Given the description of an element on the screen output the (x, y) to click on. 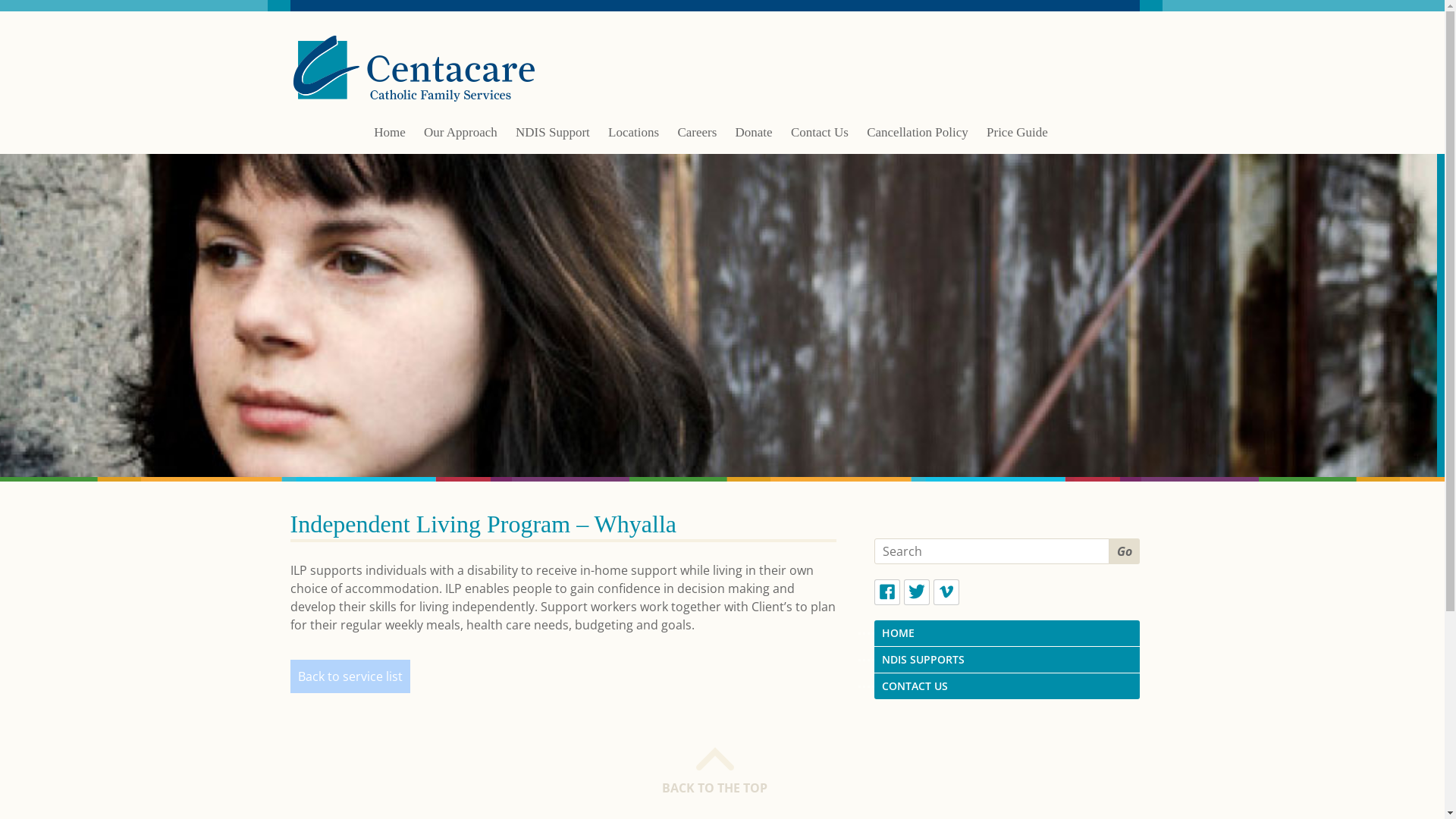
Home Element type: text (389, 139)
Cancellation Policy Element type: text (917, 139)
Back to service list Element type: text (349, 676)
NDIS SUPPORTS Element type: text (1006, 659)
Donate Element type: text (753, 139)
Careers Element type: text (696, 139)
Contact Us Element type: text (819, 139)
NDIS Support Element type: text (552, 139)
Price Guide Element type: text (1017, 139)
CONTACT US Element type: text (1006, 686)
Locations Element type: text (633, 139)
Vimeo Element type: text (945, 592)
Go Element type: text (1123, 551)
Our Approach Element type: text (460, 139)
HOME Element type: text (1006, 633)
Twitter Element type: text (916, 592)
Facebook Element type: text (886, 592)
